Given the description of an element on the screen output the (x, y) to click on. 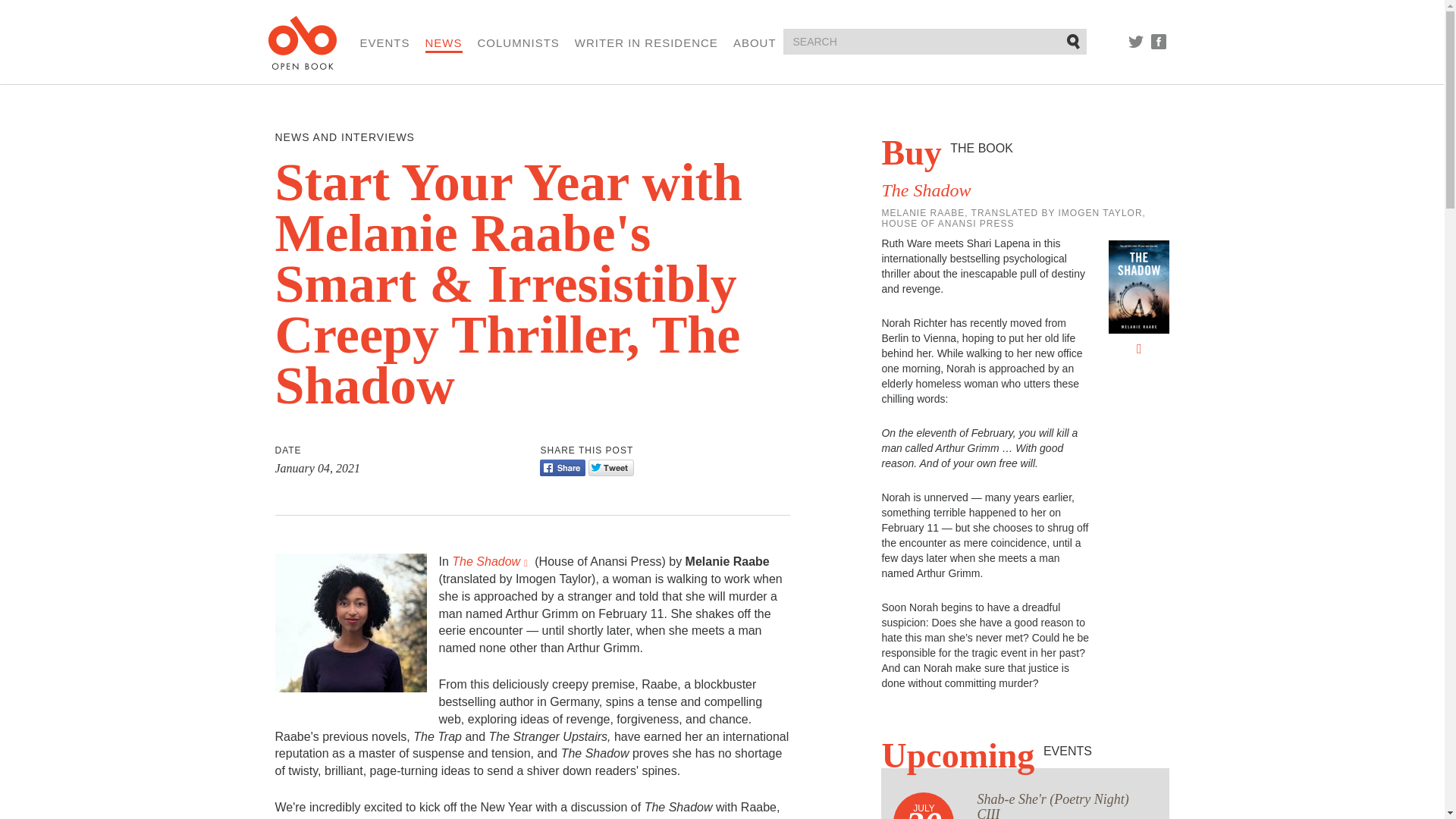
TWITTER (1135, 41)
ABOUT (754, 43)
EVENTS (384, 43)
Share (562, 467)
WRITER IN RESIDENCE (646, 43)
NEWS (444, 44)
FACEBOOK (1158, 41)
The Shadow (925, 189)
COLUMNISTS (518, 43)
Tweet (610, 467)
The Shadow (491, 561)
Submit (1073, 40)
Buy THE BOOK (945, 152)
